Given the description of an element on the screen output the (x, y) to click on. 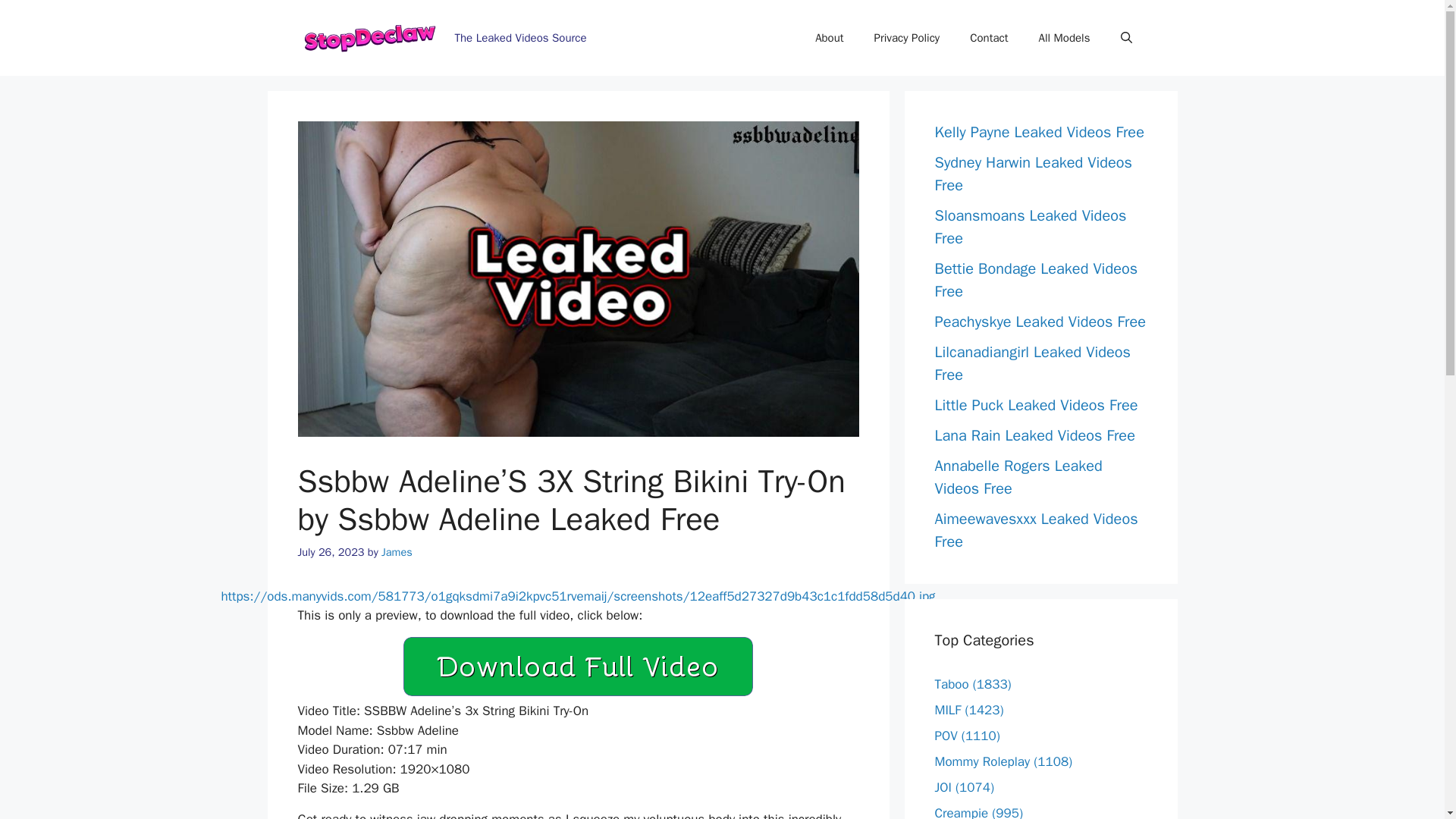
Little Puck Leaked Videos Free (1035, 404)
Kelly Payne Leaked Videos Free (1038, 131)
Aimeewavesxxx Leaked Videos Free (1035, 530)
Lilcanadiangirl Leaked Videos Free (1031, 363)
Contact (989, 37)
Privacy Policy (907, 37)
James (396, 551)
View all posts by James (396, 551)
All Models (1064, 37)
Annabelle Rogers Leaked Videos Free (1018, 476)
